Given the description of an element on the screen output the (x, y) to click on. 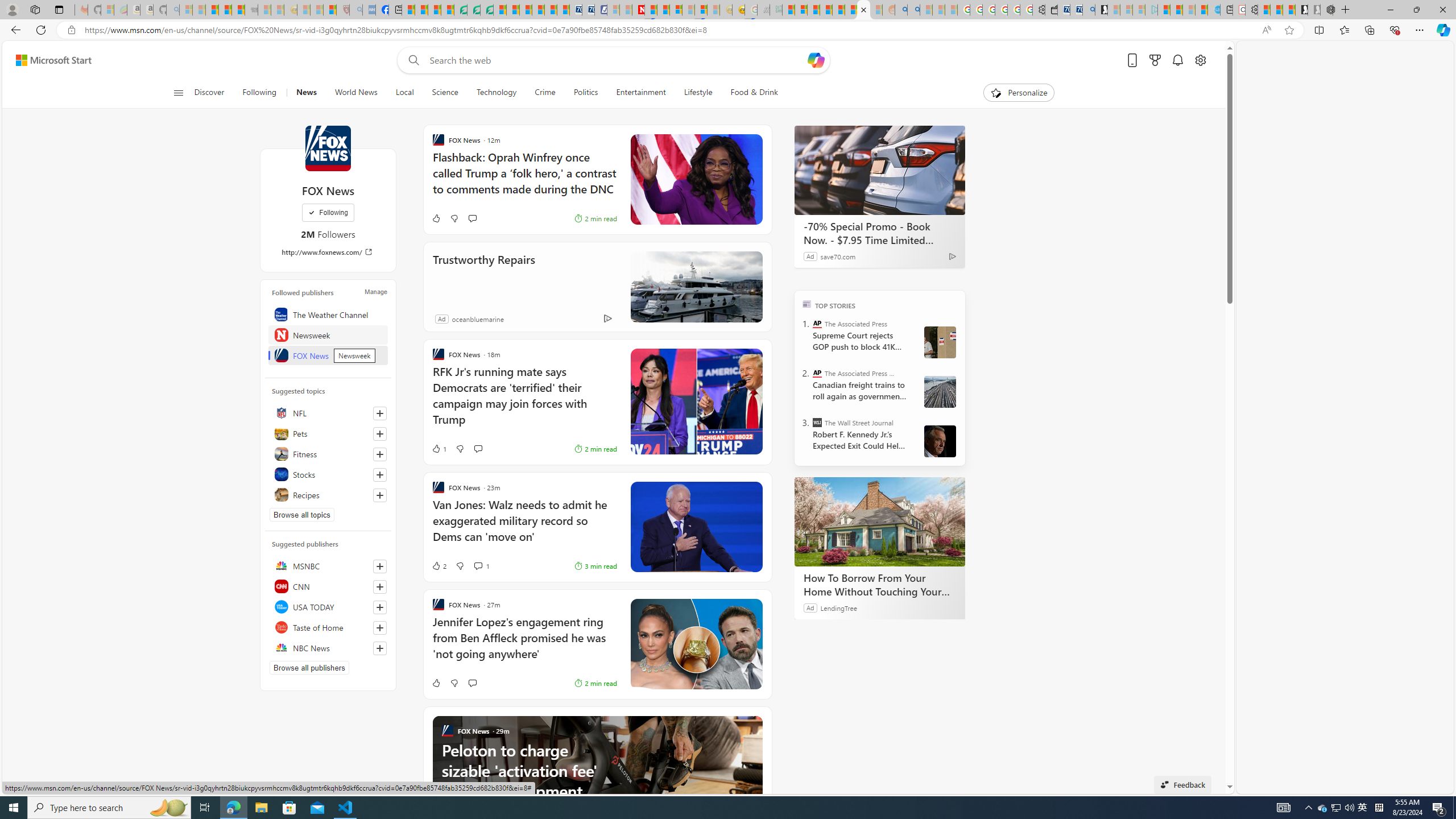
Newsweek (327, 334)
Browse all publishers (309, 667)
Pets (327, 433)
